Given the description of an element on the screen output the (x, y) to click on. 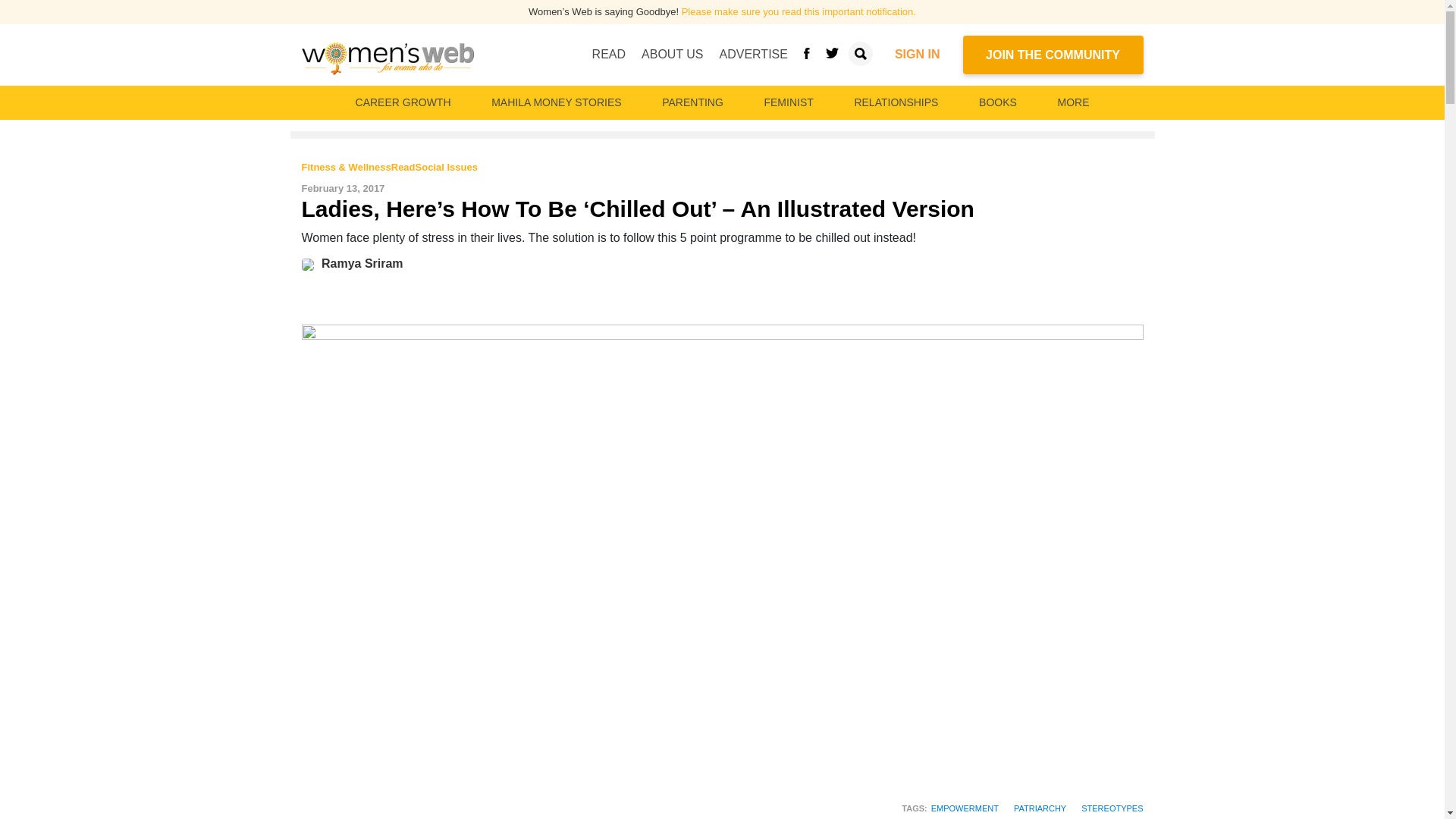
ADVERTISE (753, 54)
MORE (1072, 102)
PARENTING (691, 102)
MAHILA MONEY STORIES (555, 102)
Ramya Sriram (311, 263)
CAREER GROWTH (402, 102)
Please make sure you read this important notification. (798, 11)
ABOUT US (672, 54)
BOOKS (998, 102)
RELATIONSHIPS (894, 102)
